Given the description of an element on the screen output the (x, y) to click on. 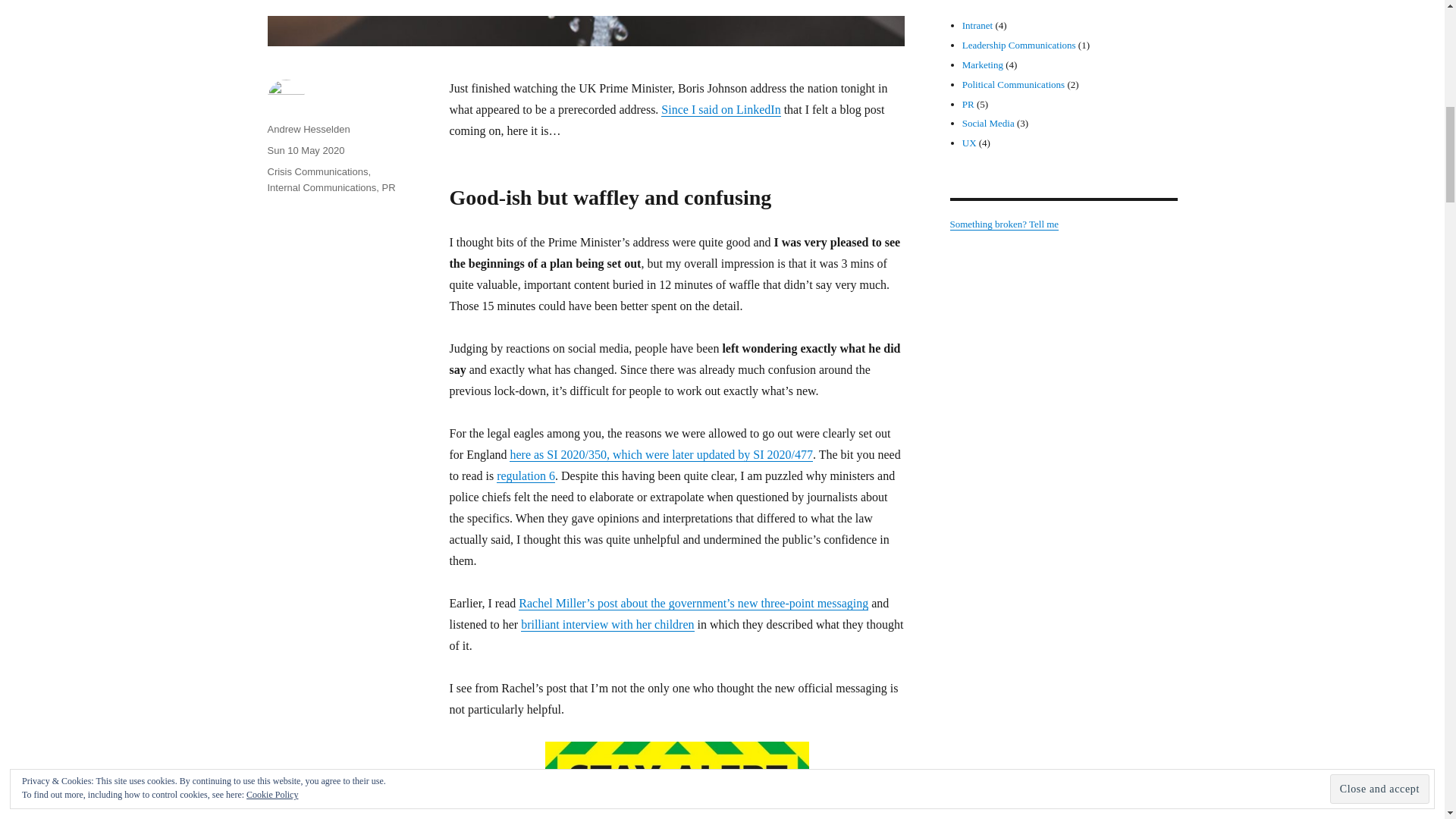
Something broken? (1003, 224)
brilliant interview with her children (607, 624)
Crisis Communications (317, 171)
Andrew Hesselden (307, 129)
Since I said on LinkedIn (720, 109)
regulation 6 (525, 475)
Sun 10 May 2020 (304, 150)
